Given the description of an element on the screen output the (x, y) to click on. 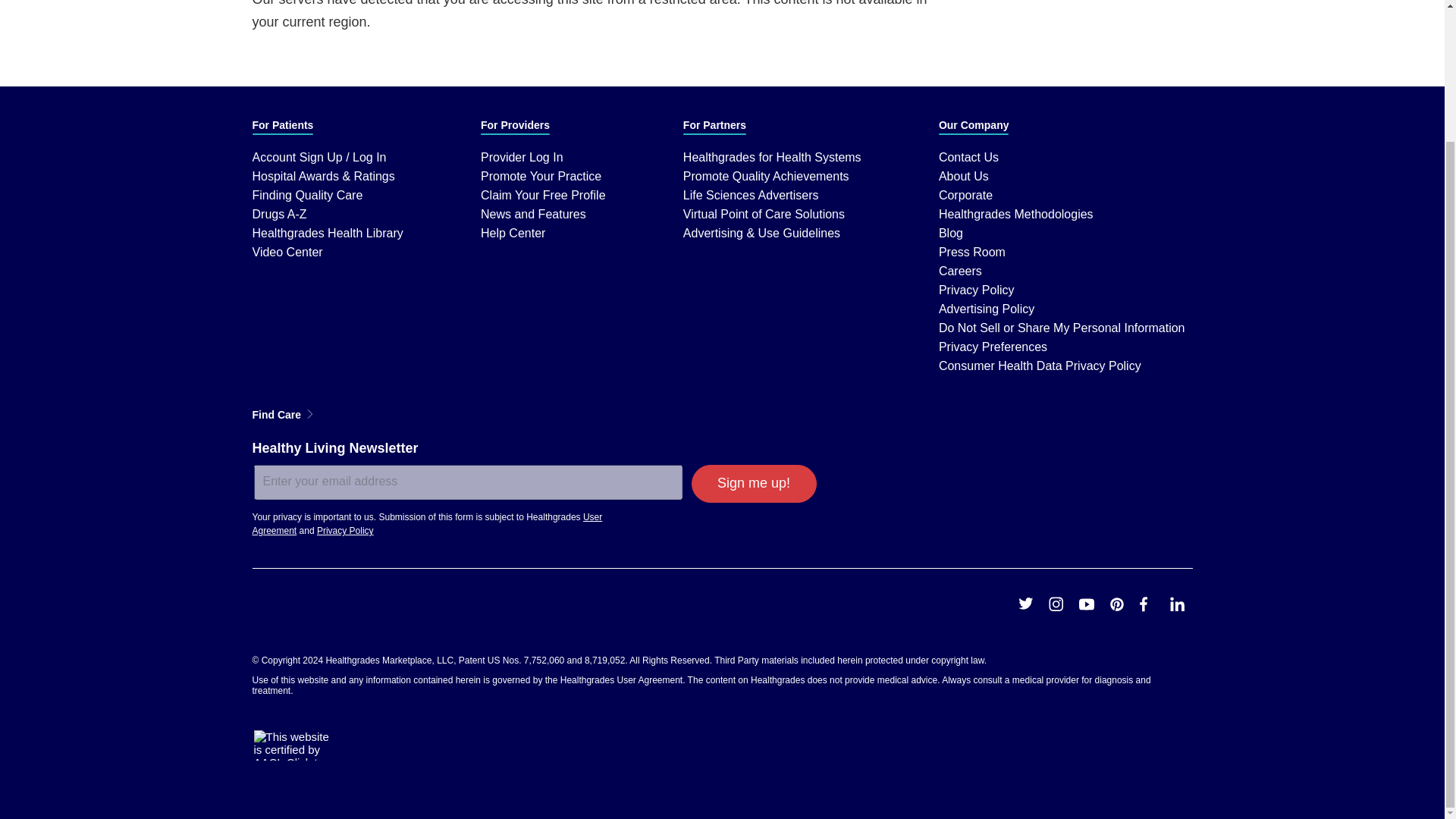
This website is certified by AACI. Click to verify. (293, 745)
